Given the description of an element on the screen output the (x, y) to click on. 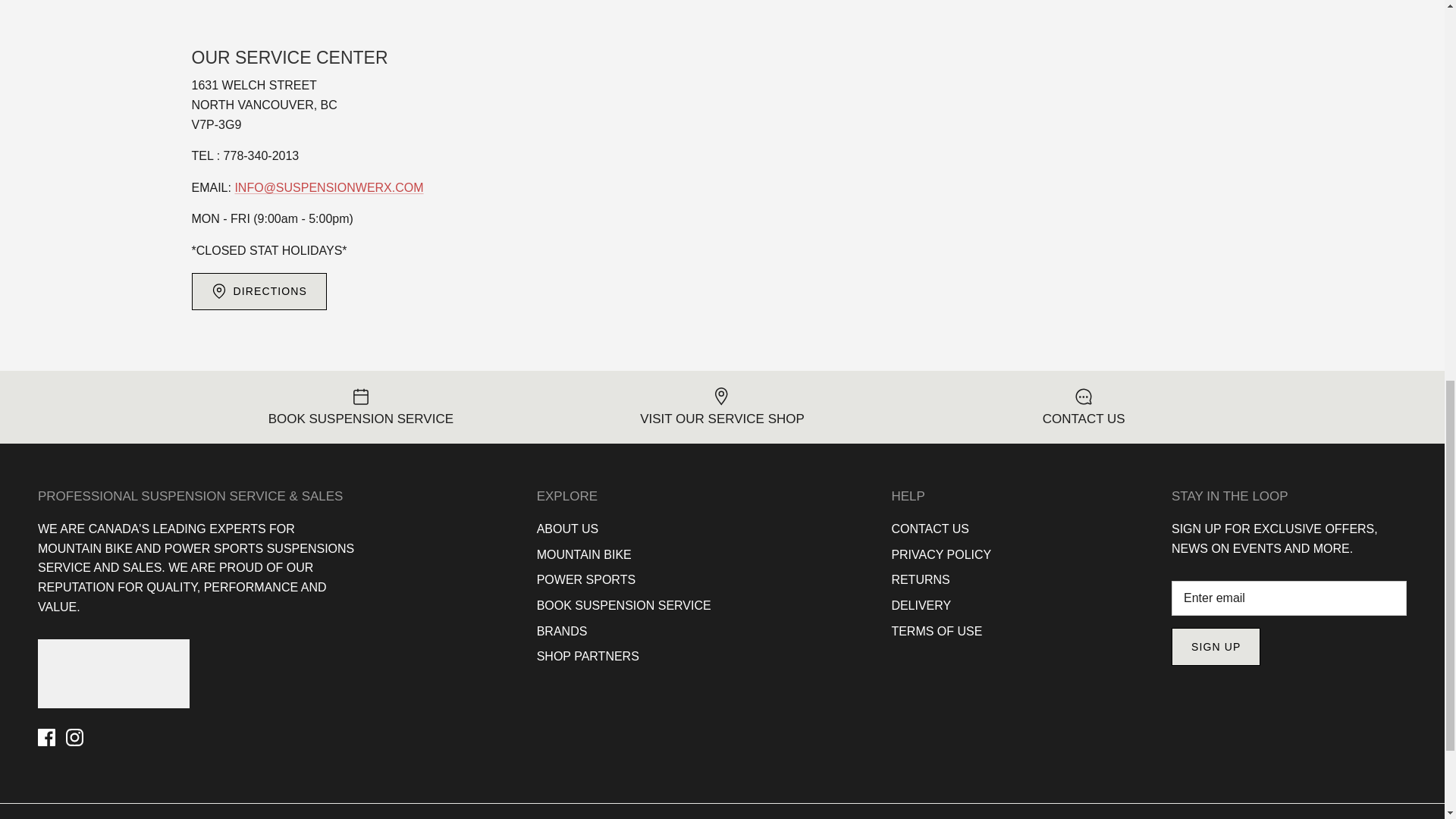
Instagram (73, 737)
Facebook (46, 737)
